Given the description of an element on the screen output the (x, y) to click on. 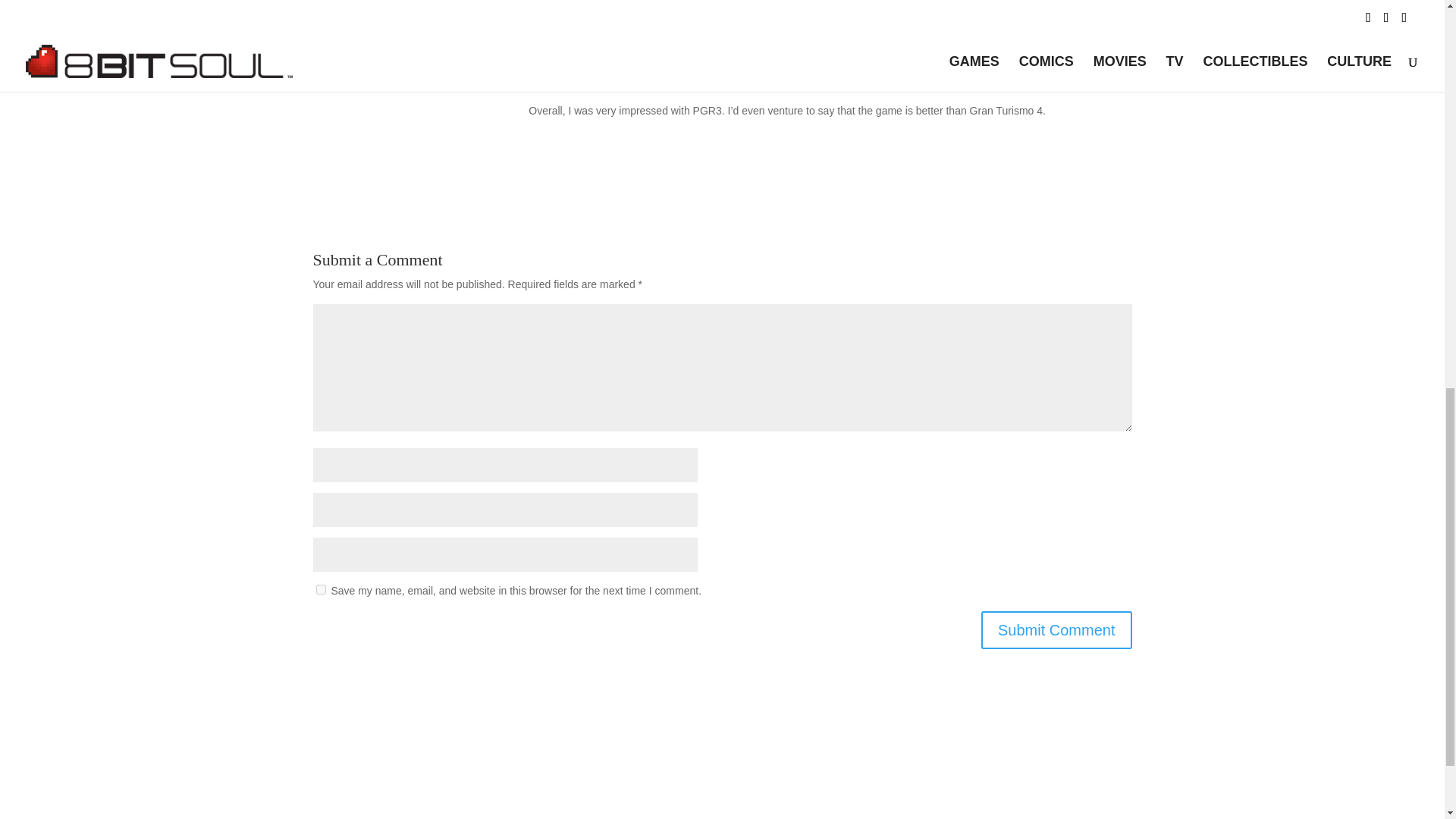
yes (319, 589)
Submit Comment (1056, 629)
Submit Comment (1056, 629)
